Given the description of an element on the screen output the (x, y) to click on. 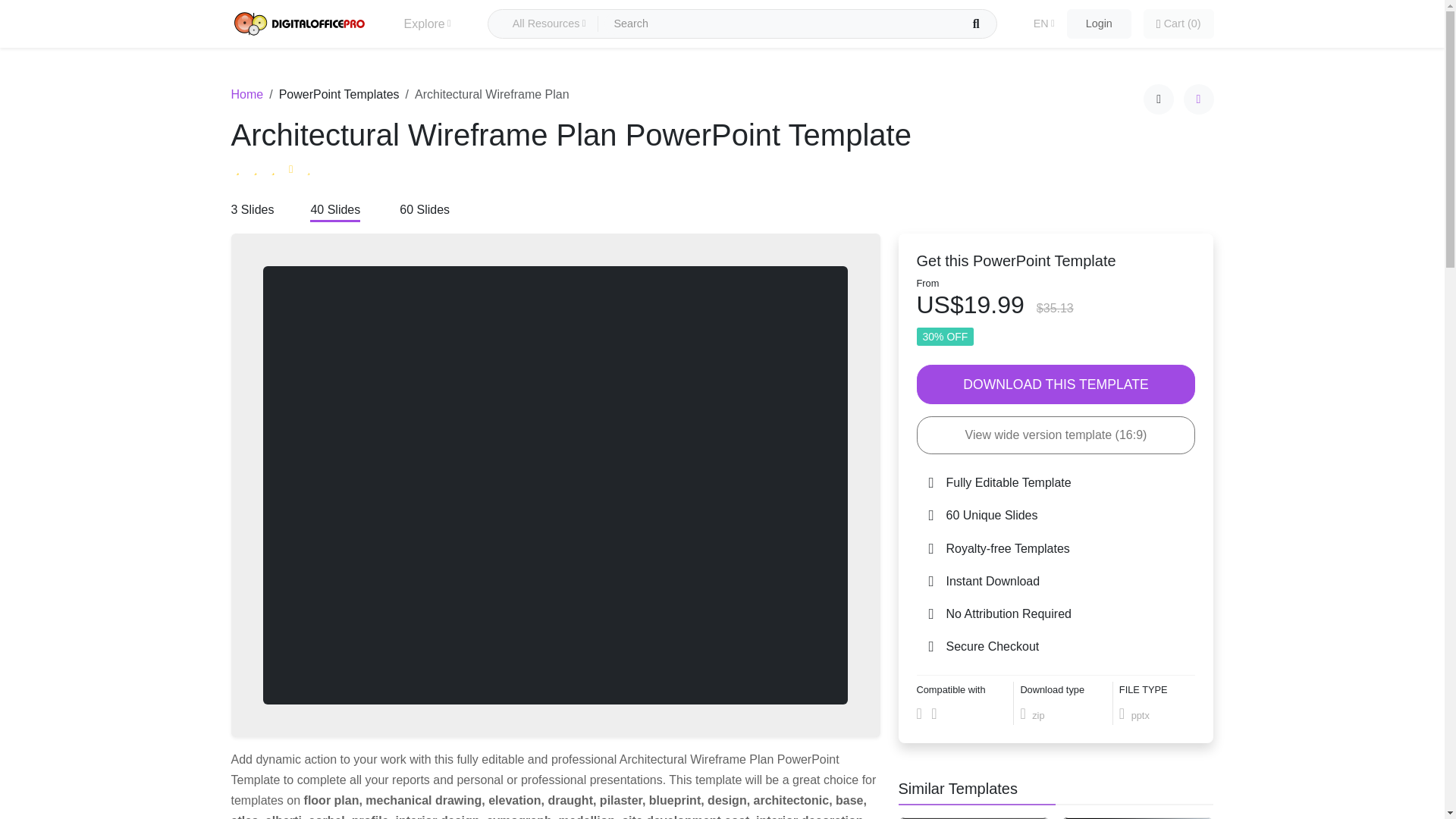
Home (246, 93)
Explore (426, 23)
3 Slides (251, 210)
60 Slides (423, 210)
Login (1099, 24)
All Resources (549, 23)
40 Slides (334, 210)
PowerPoint Templates (338, 93)
